Given the description of an element on the screen output the (x, y) to click on. 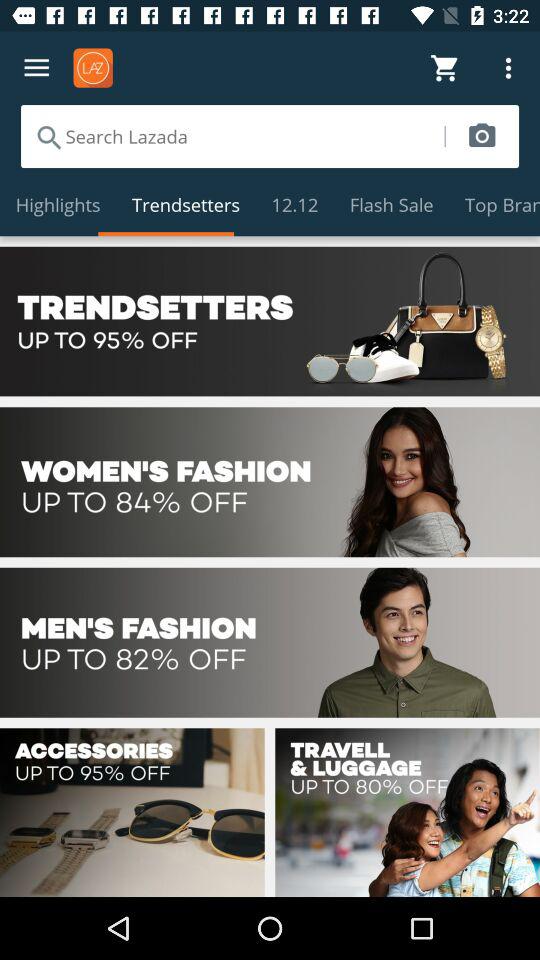
see discounts in women 's fashion (270, 482)
